Given the description of an element on the screen output the (x, y) to click on. 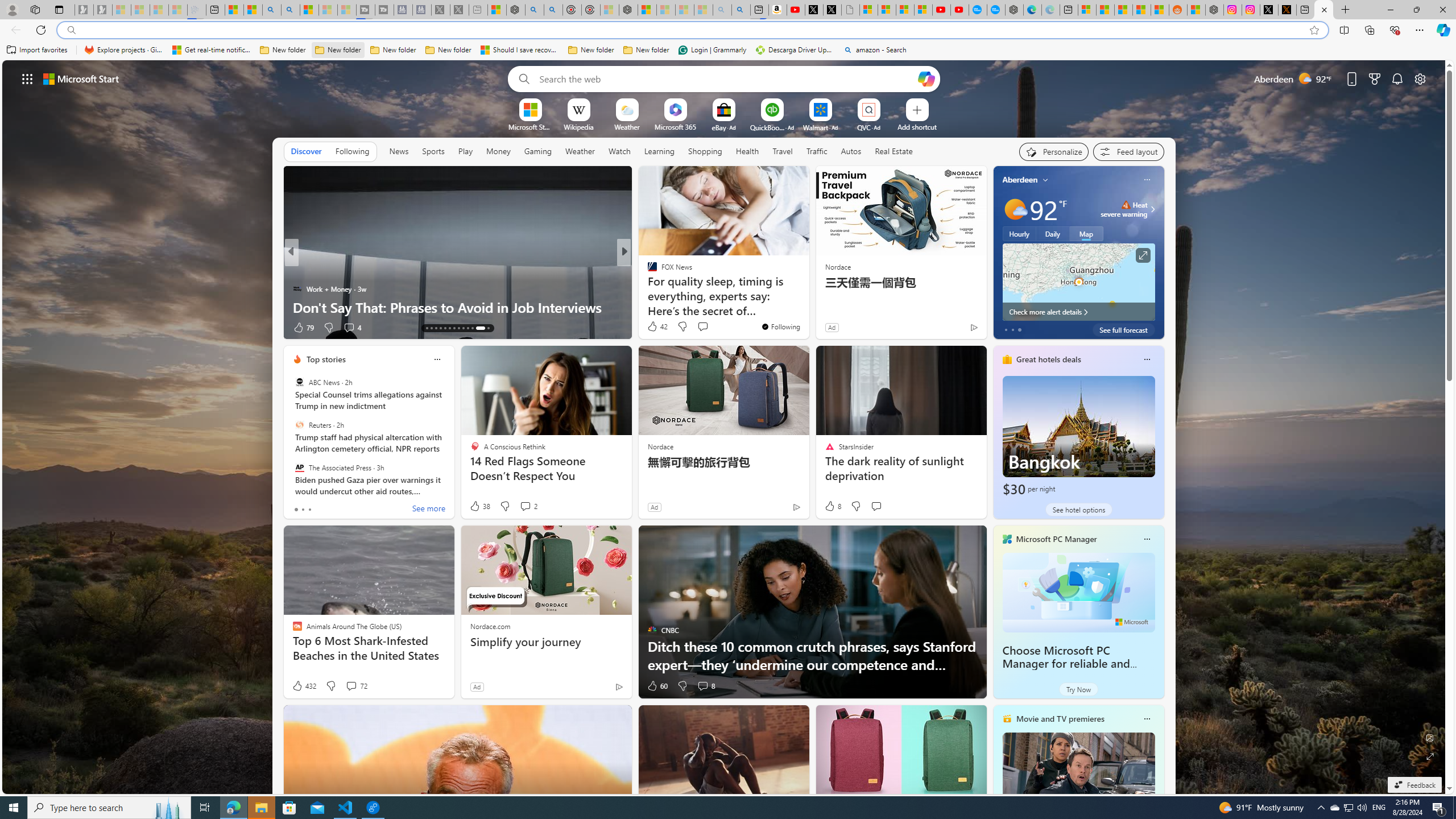
Untitled (850, 9)
See full forecast (1123, 329)
Shanghai, China hourly forecast | Microsoft Weather (1123, 9)
Autos (850, 151)
Amazon Echo Dot PNG - Search Images (740, 9)
Daily (1052, 233)
Descarga Driver Updater (794, 49)
